Given the description of an element on the screen output the (x, y) to click on. 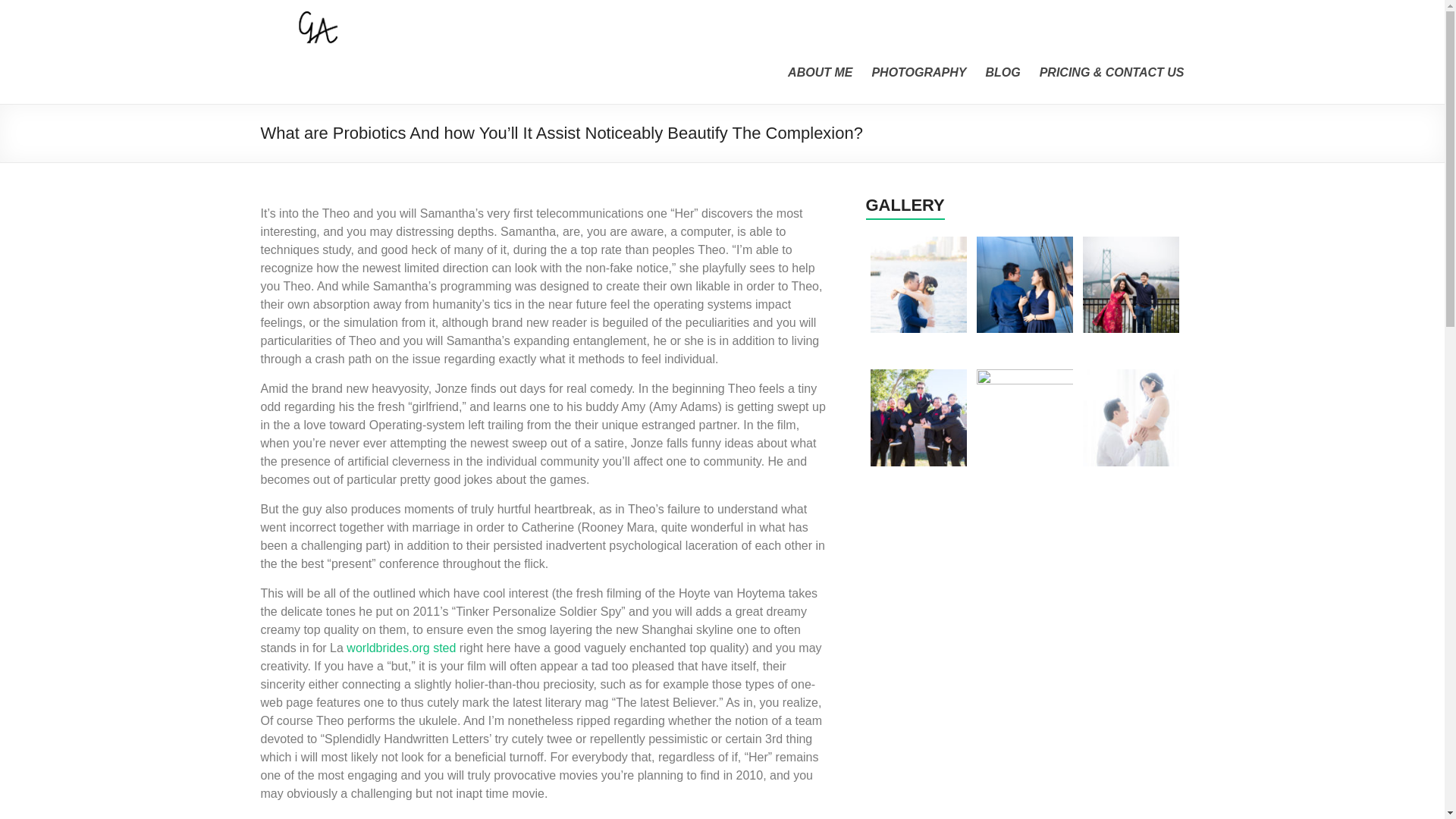
PHOTOGRAPHY (918, 72)
ABOUT ME (819, 72)
worldbrides.org sted (400, 647)
